Given the description of an element on the screen output the (x, y) to click on. 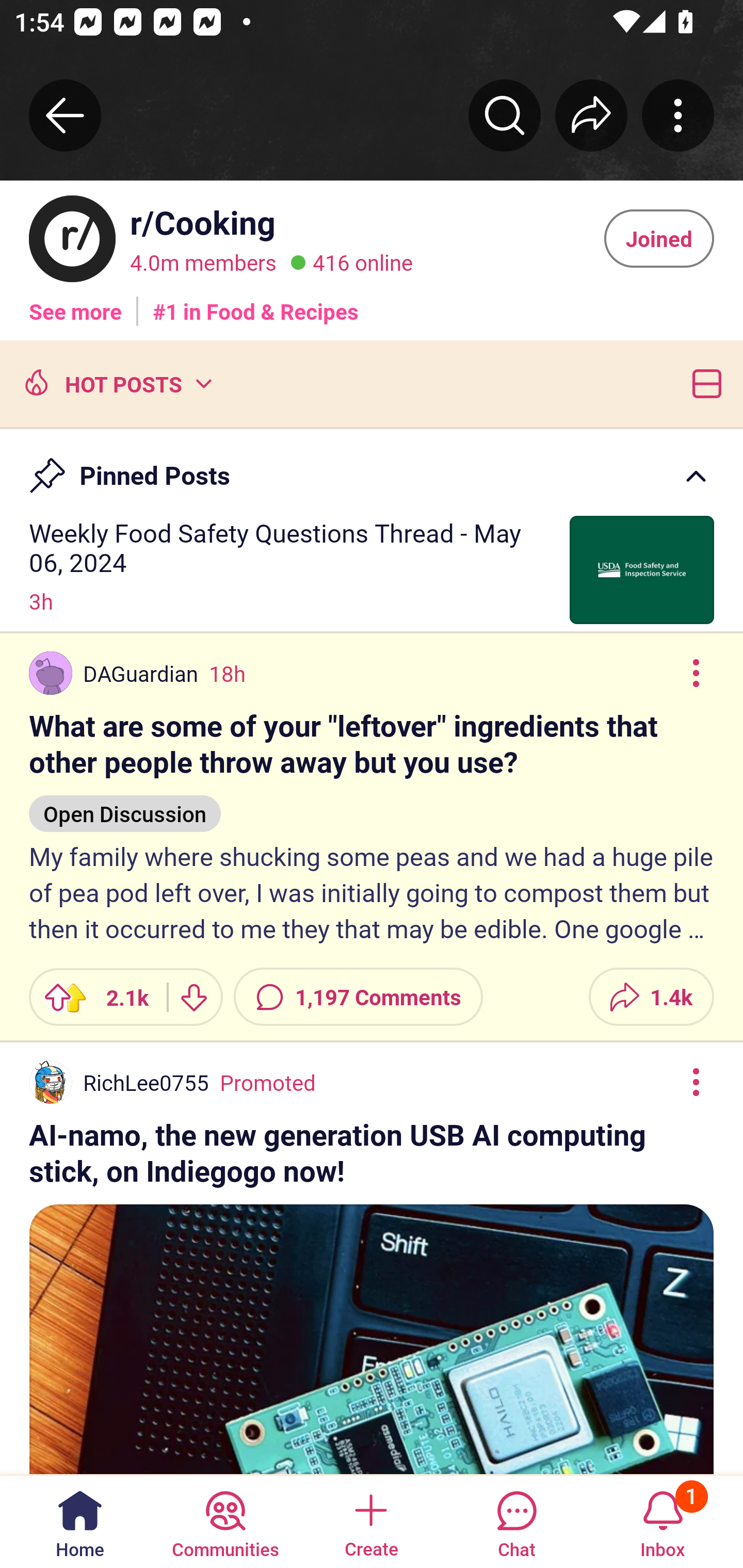
Back (64, 115)
Search r/﻿Cooking (504, 115)
Share r/﻿Cooking (591, 115)
More community actions (677, 115)
See more (74, 304)
#1 in Food & Recipes (255, 304)
Hot posts HOT POSTS (116, 382)
Card (703, 382)
Pin Pinned Posts Caret (371, 466)
Open Discussion (124, 803)
Home (80, 1520)
Communities (225, 1520)
Create a post Create (370, 1520)
Chat (516, 1520)
Inbox, has 1 notification 1 Inbox (662, 1520)
